Given the description of an element on the screen output the (x, y) to click on. 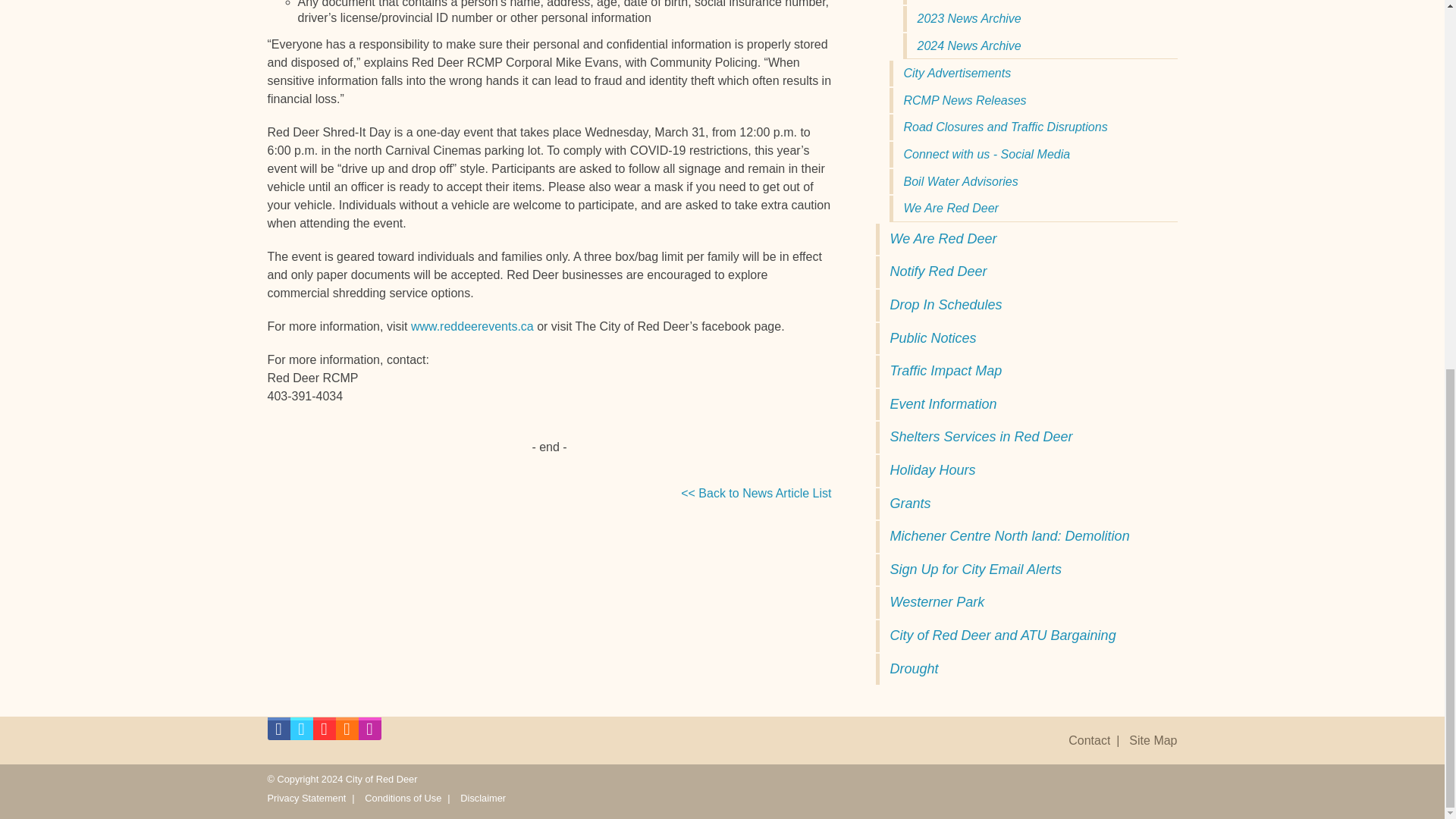
2023 News Archive (1039, 18)
We Are Red Deer (1025, 239)
Open City of Red Deer YouTube Channel (323, 732)
Open City of Red Deer Facebook Page (277, 732)
Connect with us - Social Media (1032, 154)
Road Closures and Traffic Disruptions (1032, 127)
Boil Water Advisories (1032, 181)
Notify Red Deer (1025, 272)
Open City of Red Deer Instagram (369, 732)
City Advertisements (1032, 73)
www.reddeerevents.ca (472, 326)
Open City of Red Deer RSS Feeds (346, 732)
Open City of Red Deer Twitter Feed (301, 732)
We Are Red Deer (1032, 208)
RCMP News Releases (1032, 100)
